Given the description of an element on the screen output the (x, y) to click on. 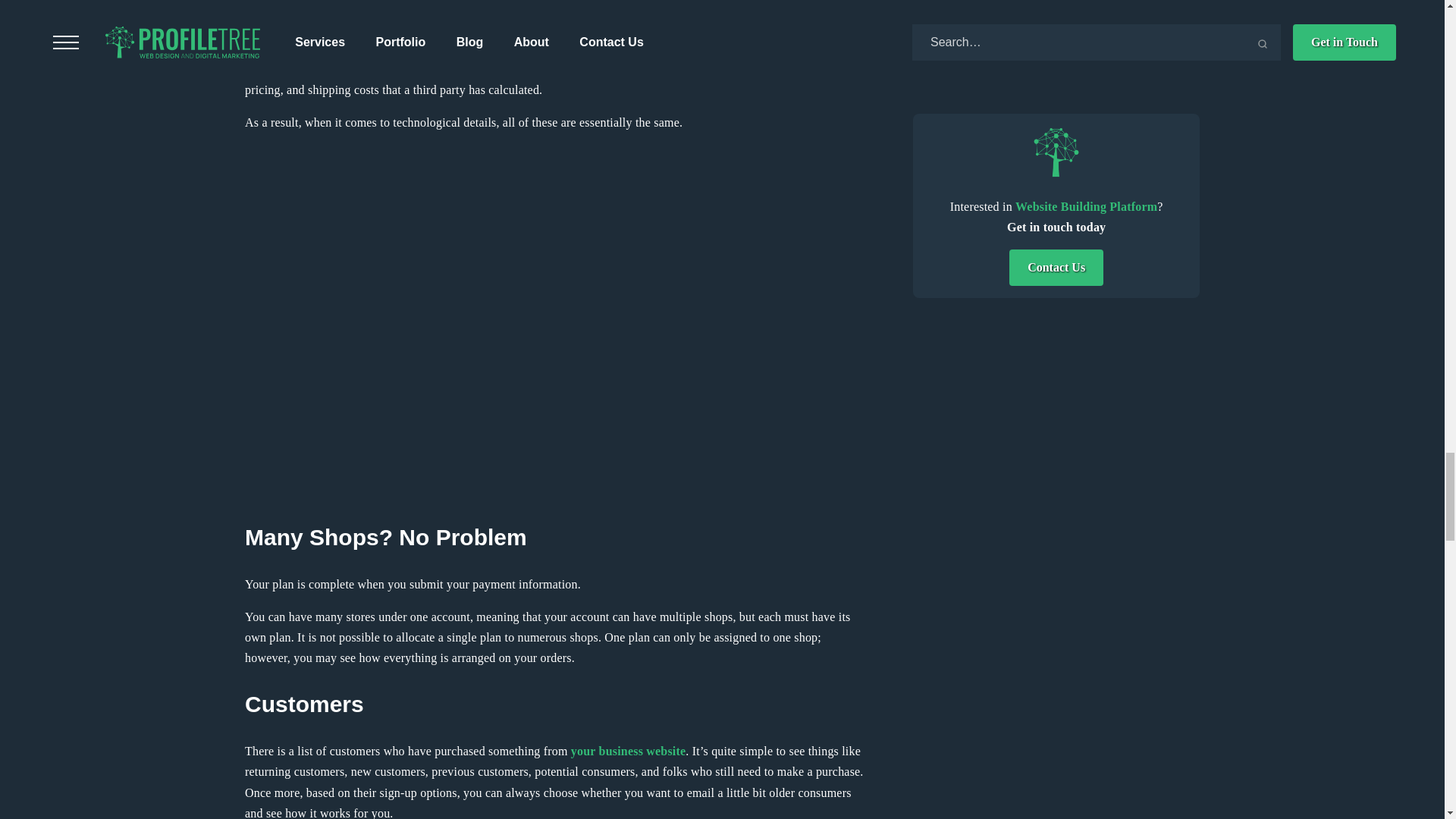
your business website (627, 750)
